Given the description of an element on the screen output the (x, y) to click on. 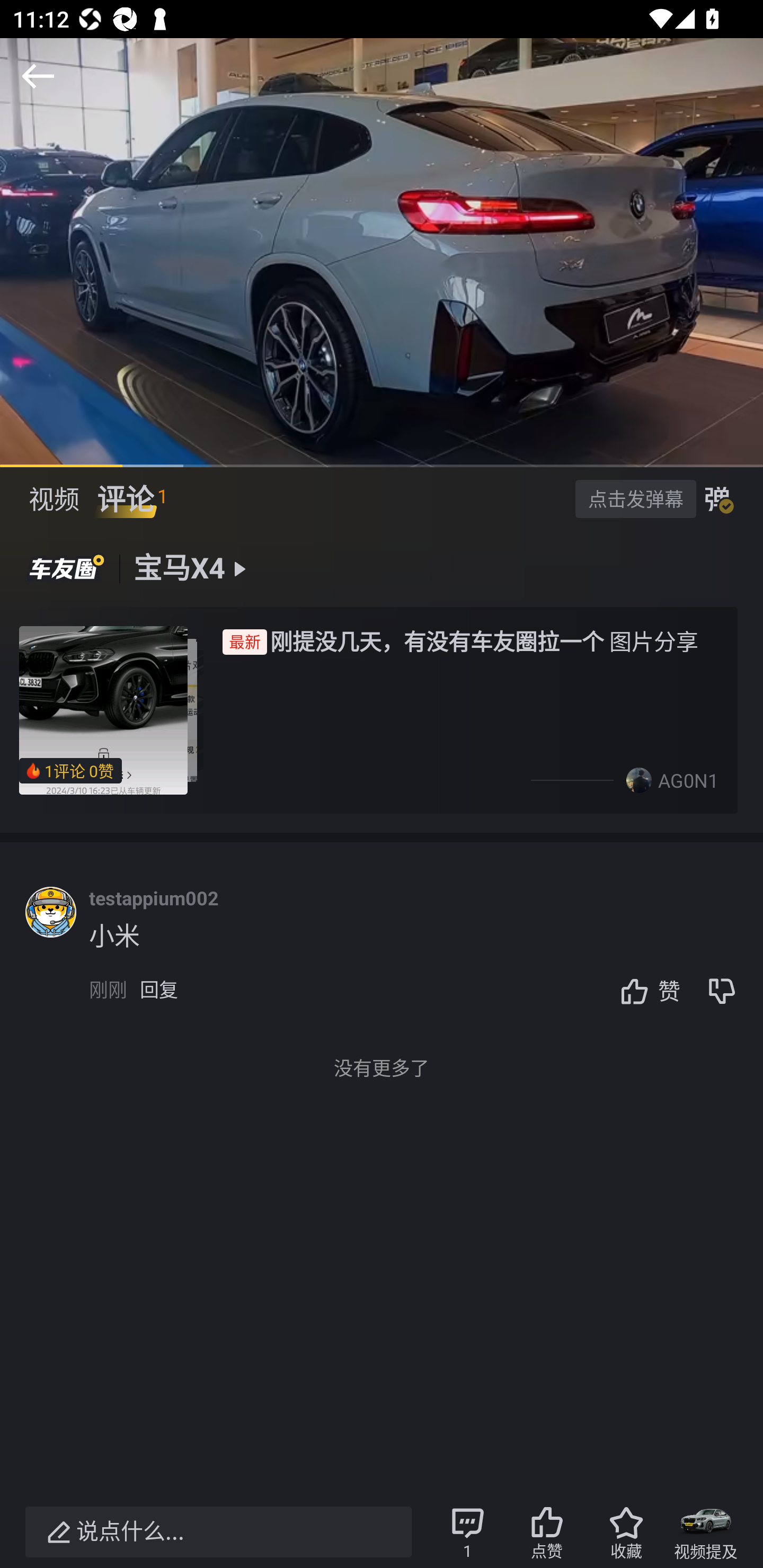
16.0 (381, 252)
 (38, 75)
视频 (53, 499)
评论 1 (131, 499)
点击发弹幕 (635, 498)
testappium002 小米 刚刚 回复 赞 (426, 956)
testappium002 (153, 898)
赞 (645, 990)
 1 (467, 1531)
点赞 (546, 1531)
收藏 (625, 1531)
视频提及 (705, 1531)
 说点什么... (218, 1531)
